Given the description of an element on the screen output the (x, y) to click on. 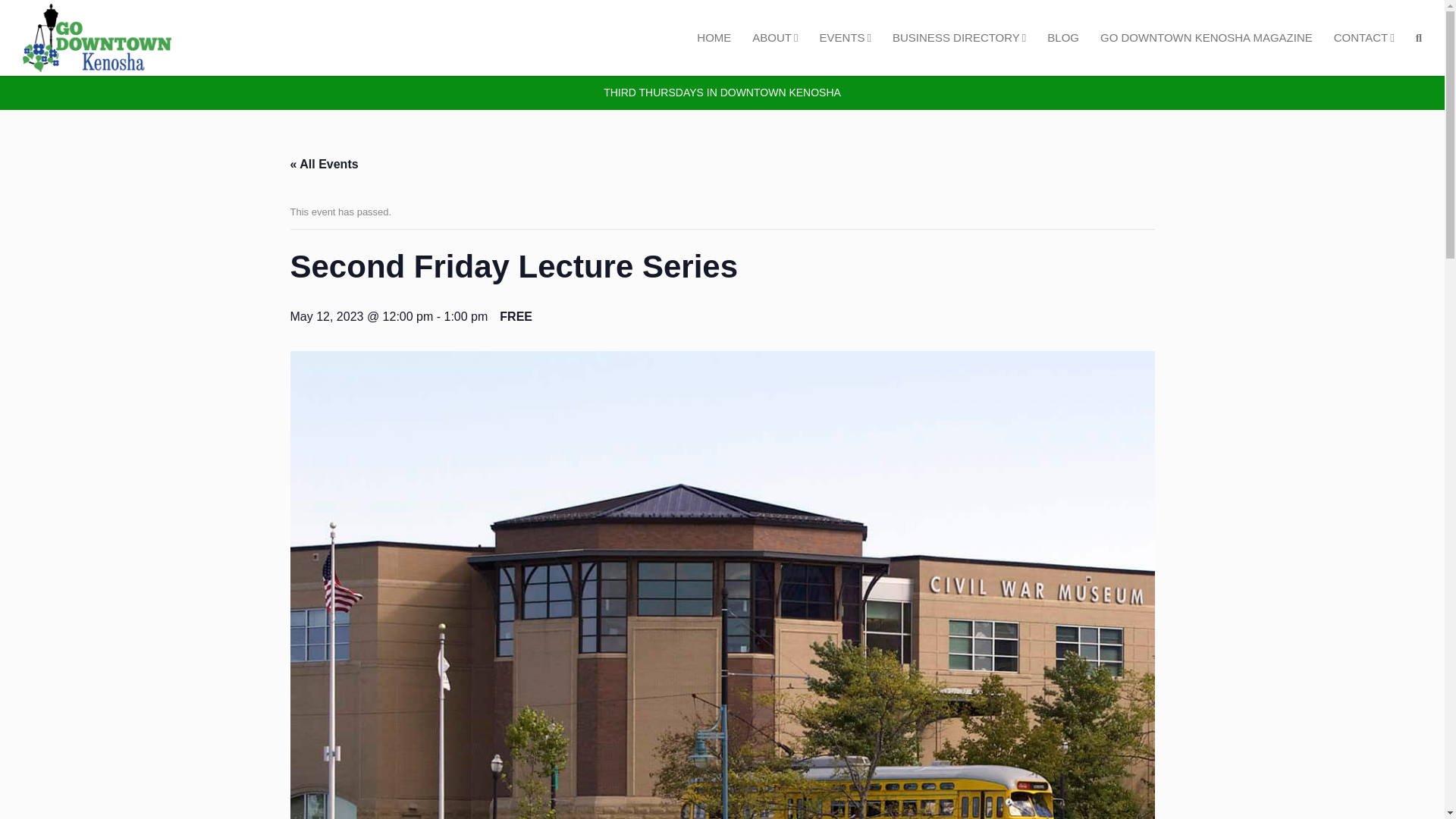
BUSINESS DIRECTORY (959, 38)
GO DOWNTOWN KENOSHA MAGAZINE (1206, 38)
EVENTS (845, 38)
CONTACT (1364, 38)
